Given the description of an element on the screen output the (x, y) to click on. 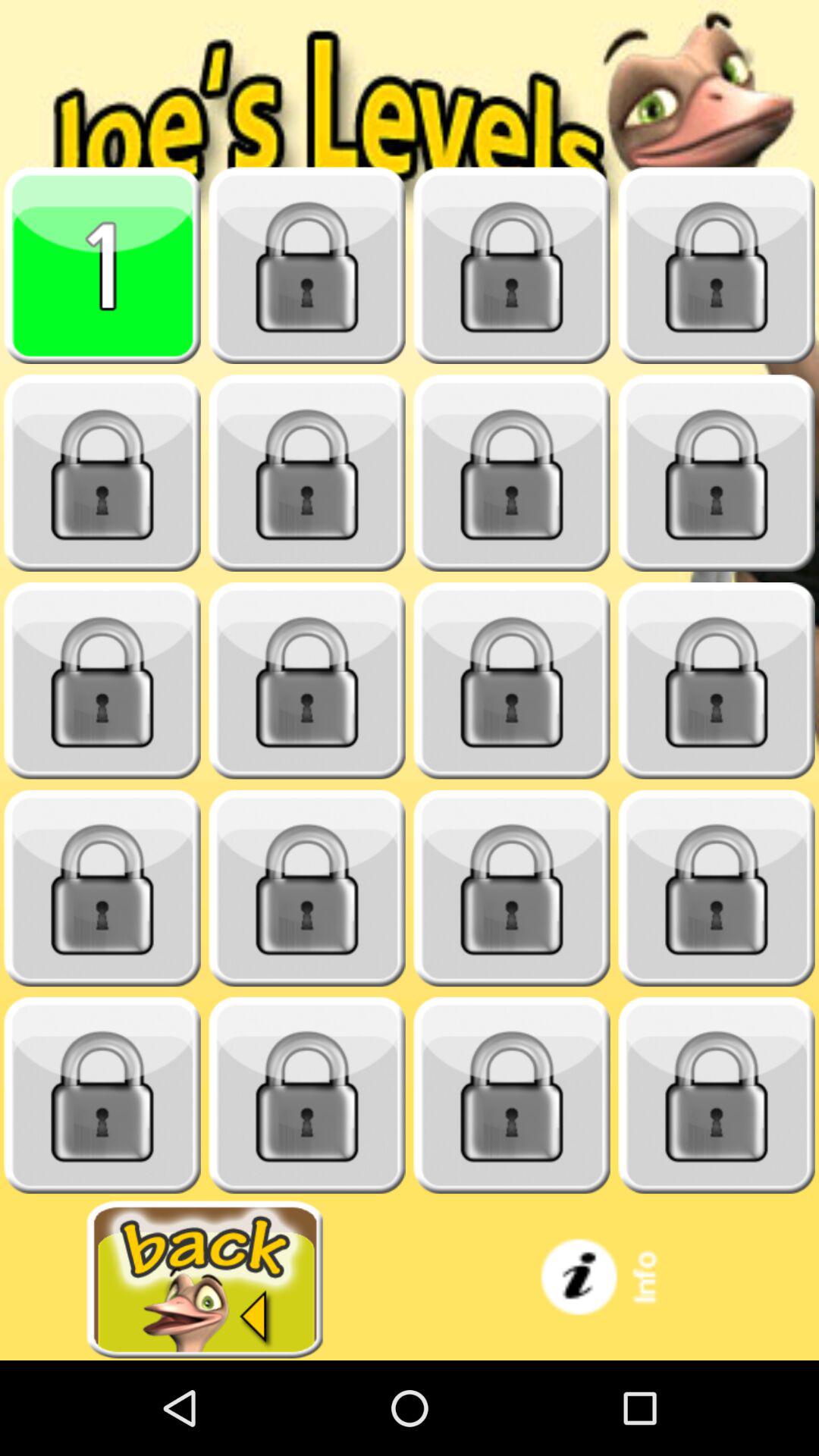
select this tile (306, 887)
